Given the description of an element on the screen output the (x, y) to click on. 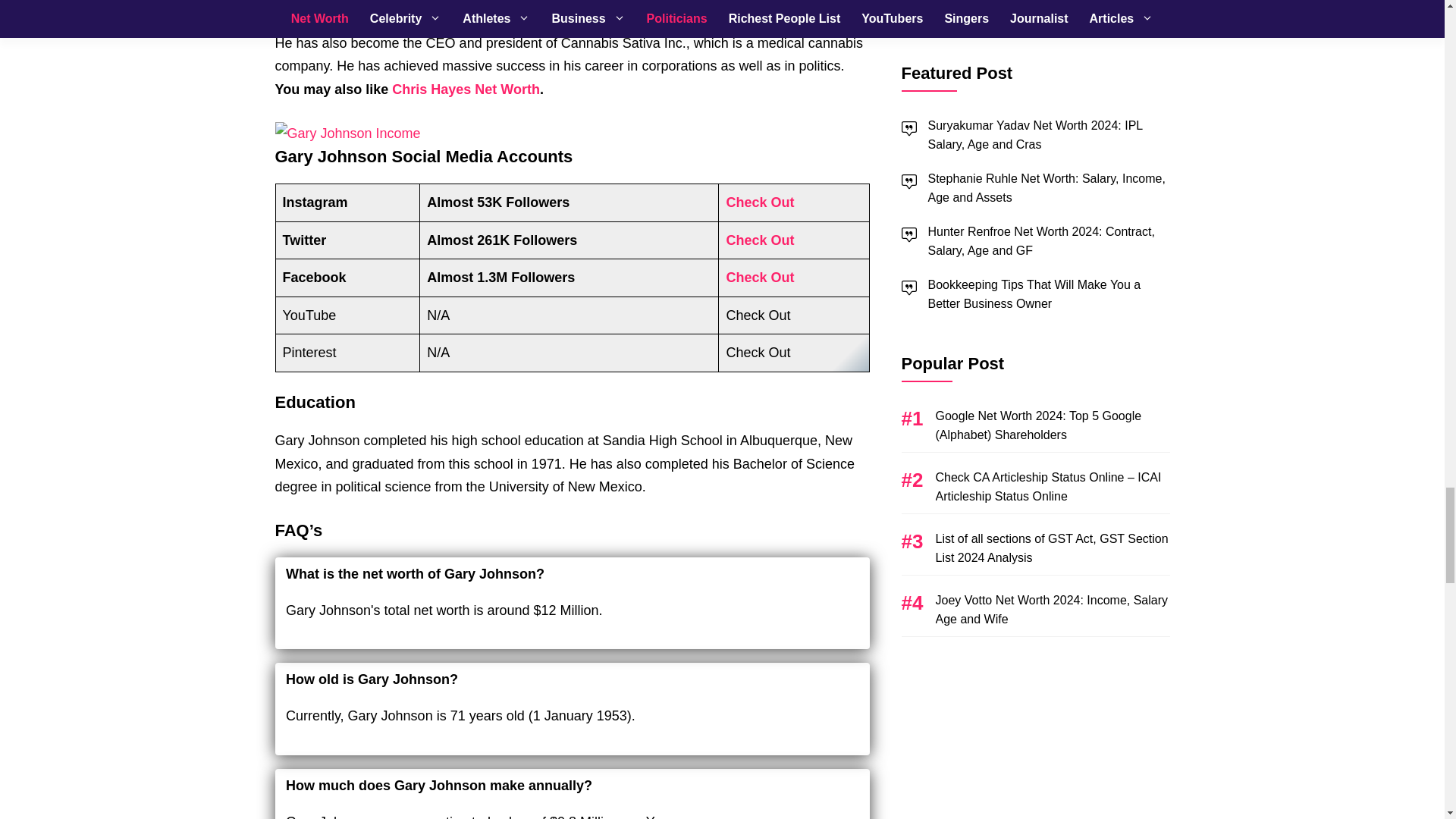
Gary Johnson Income 1024x695 (347, 133)
